Given the description of an element on the screen output the (x, y) to click on. 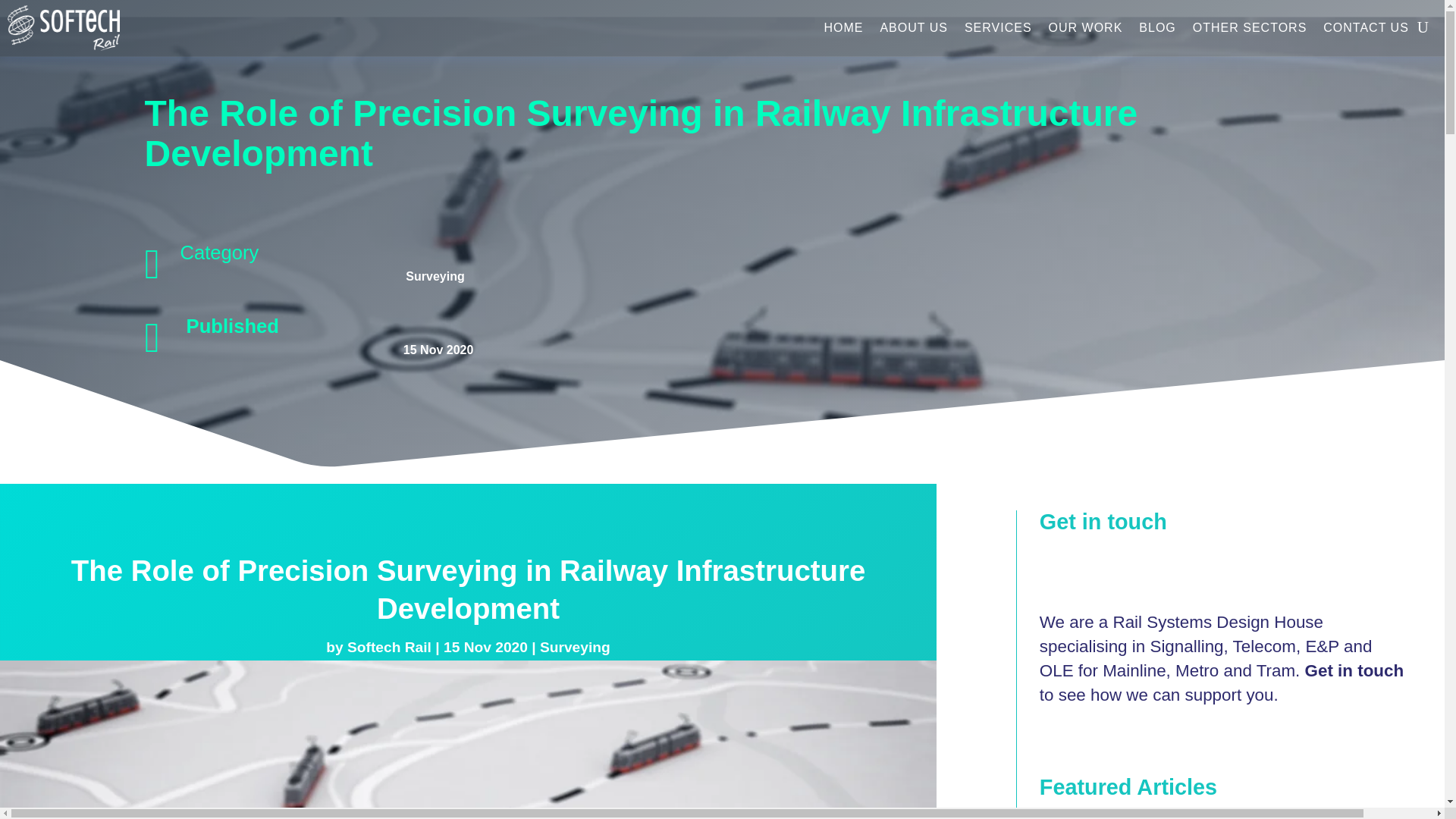
CONTACT US (1366, 28)
Surveying (435, 276)
Softech Rail (388, 647)
SERVICES (997, 28)
OUR WORK (1085, 28)
ABOUT US (913, 28)
Get in touch to see how we can support you. (1221, 682)
Posts by Softech Rail (388, 647)
Surveying (575, 647)
OTHER SECTORS (1249, 28)
